Given the description of an element on the screen output the (x, y) to click on. 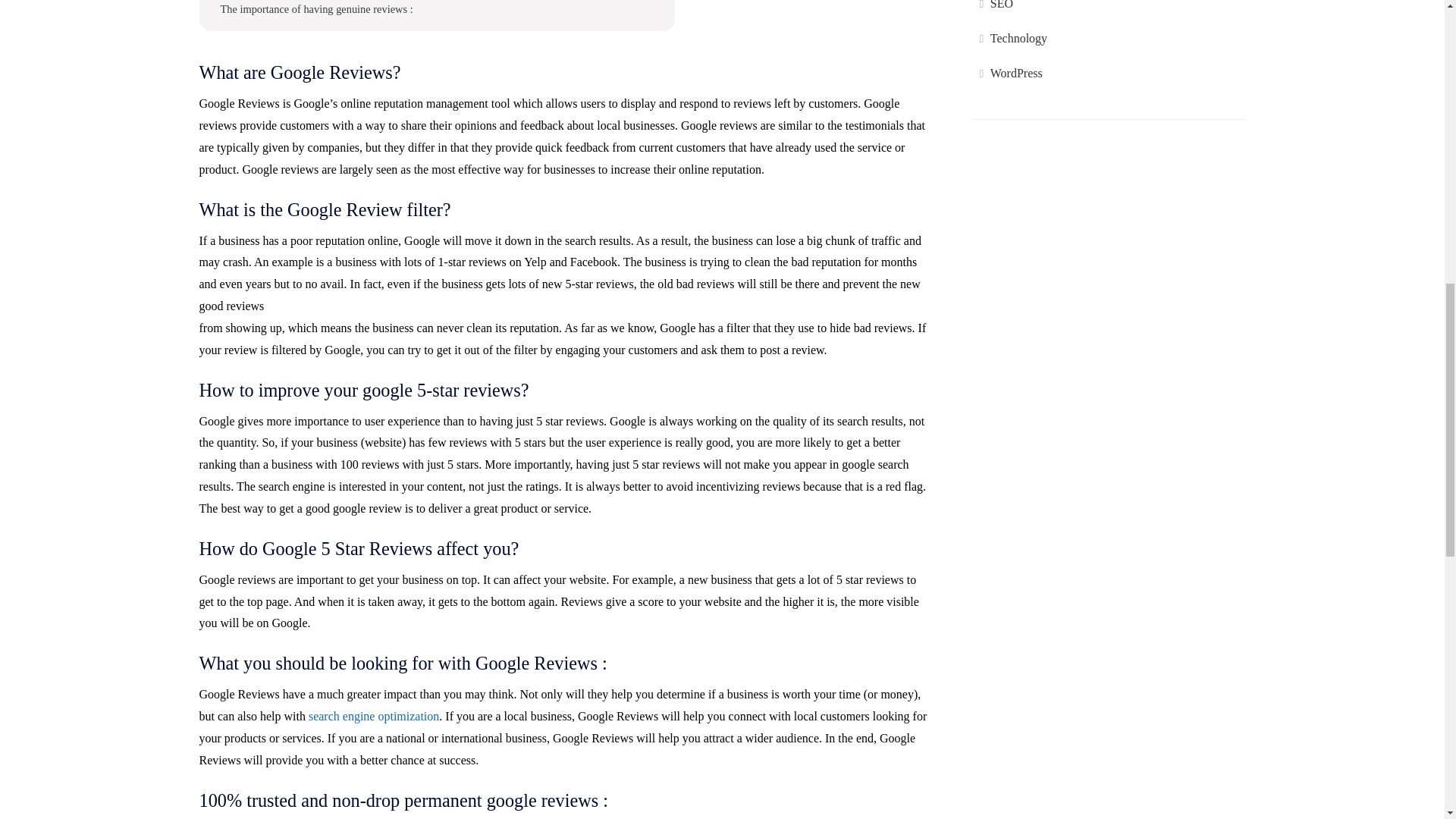
The importance of having genuine reviews : (315, 9)
search engine optimization (373, 716)
The importance of having genuine reviews : (315, 9)
